Given the description of an element on the screen output the (x, y) to click on. 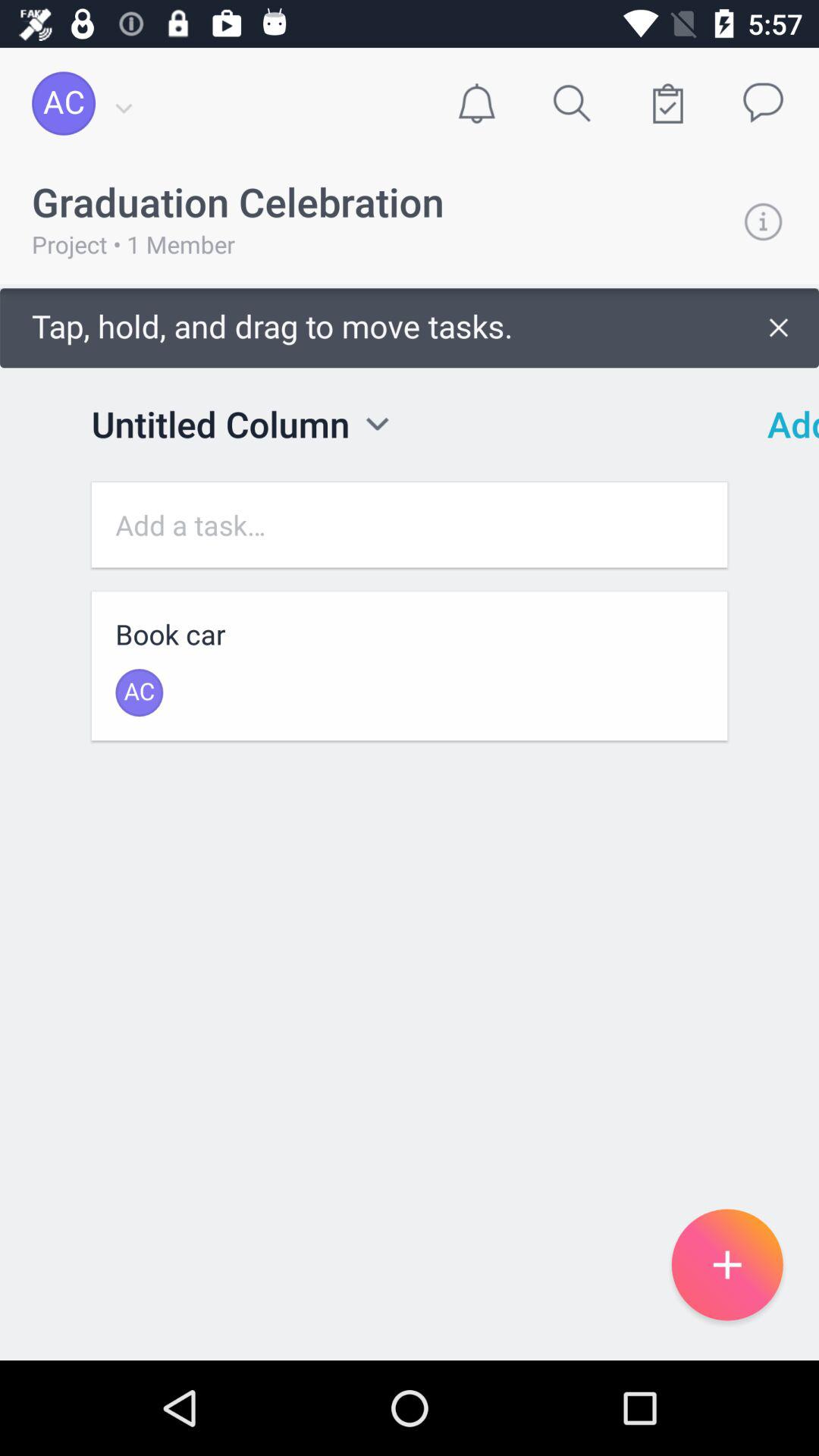
launch the item to the right of graduation celebration item (763, 221)
